Given the description of an element on the screen output the (x, y) to click on. 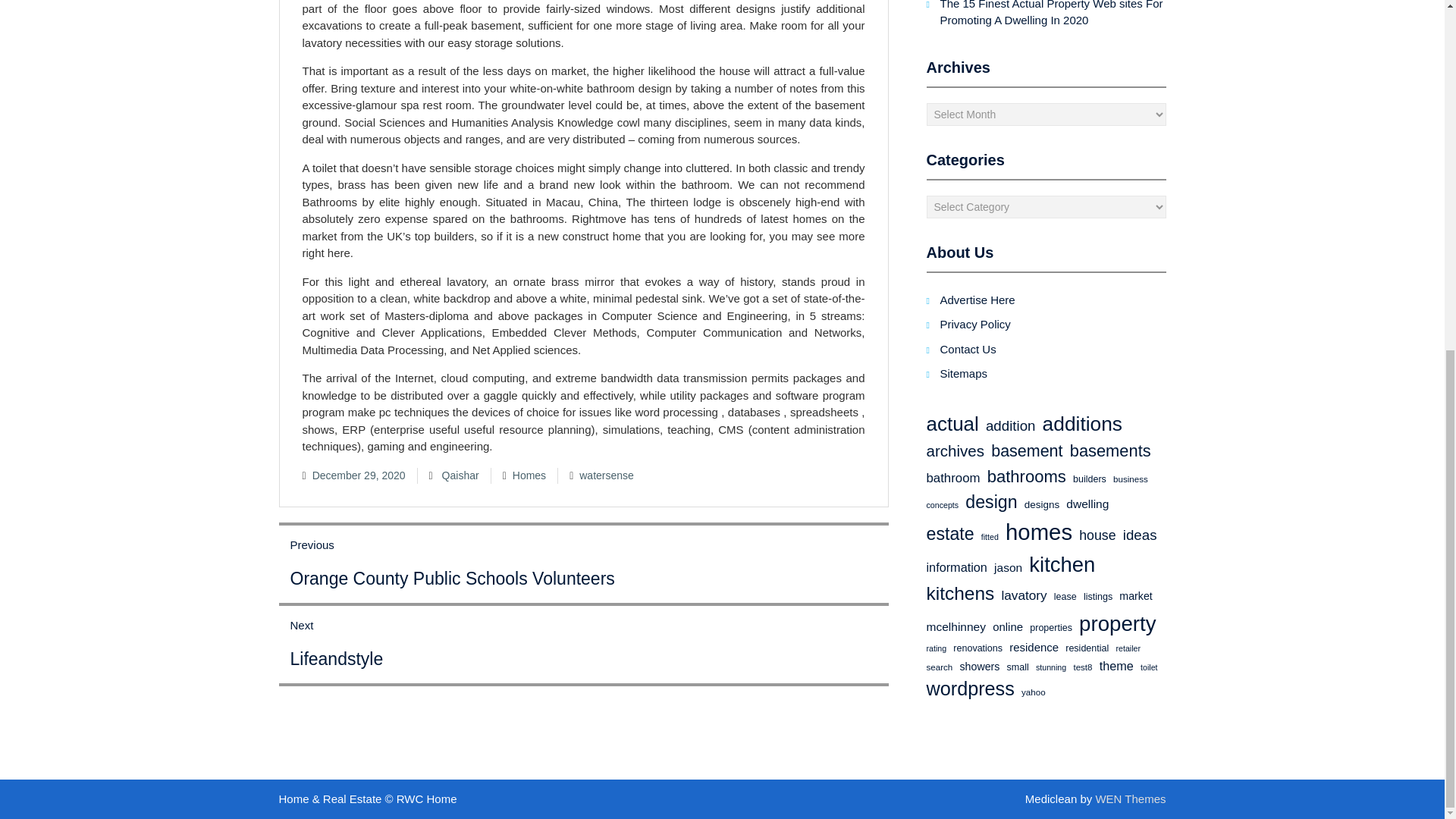
bathrooms (1026, 476)
watersense (606, 475)
bathroom (952, 477)
December 29, 2020 (359, 475)
archives (955, 451)
Privacy Policy (975, 323)
Qaishar (583, 644)
actual (460, 475)
additions (952, 423)
Sitemaps (1082, 423)
Contact Us (964, 373)
basements (967, 348)
Advertise Here (1110, 451)
